Given the description of an element on the screen output the (x, y) to click on. 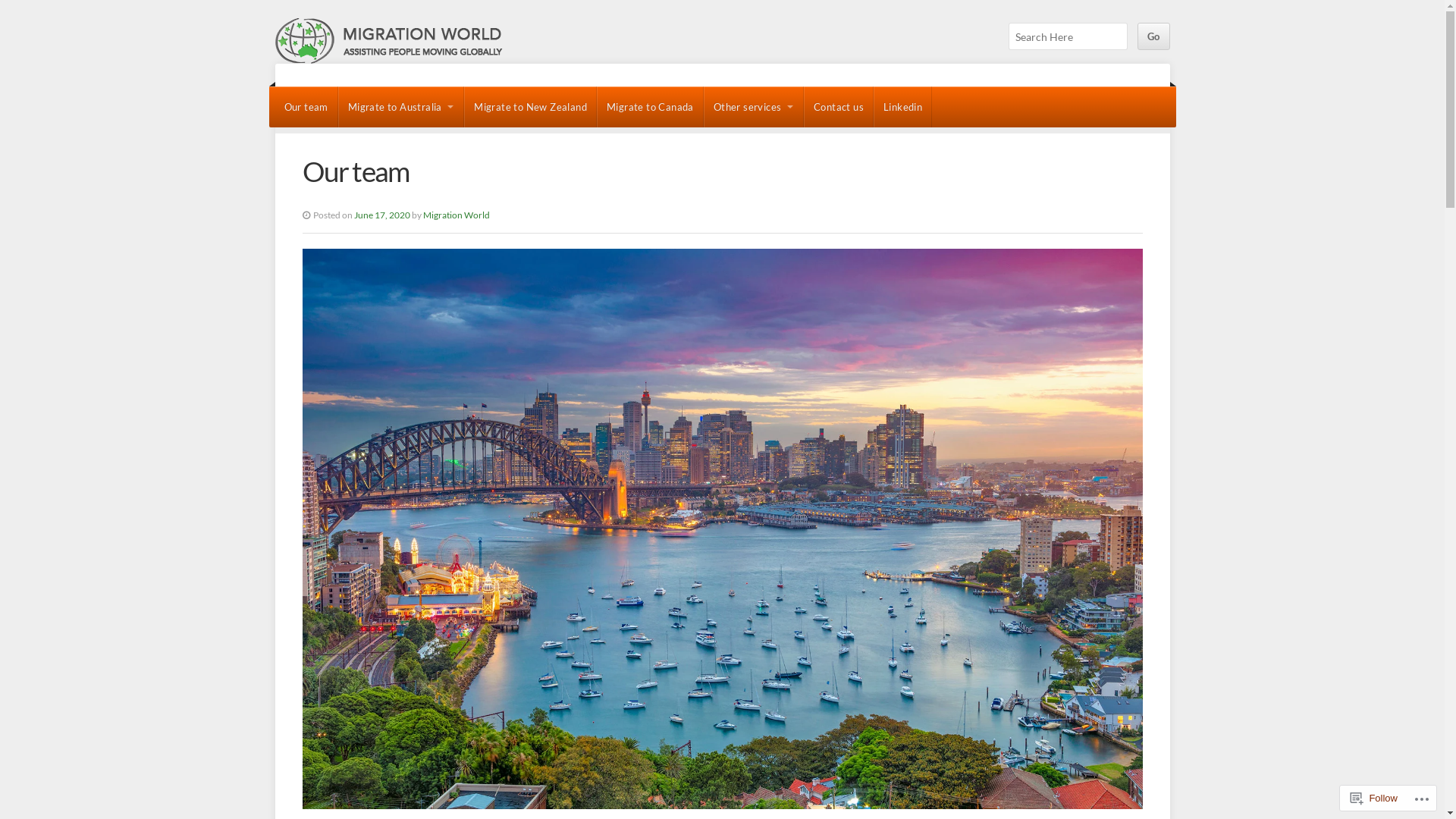
June 17, 2020 Element type: text (381, 214)
Search for: Element type: hover (1068, 36)
Other services Element type: text (753, 106)
Migrate to Canada Element type: text (649, 106)
Migrate to New Zealand Element type: text (530, 106)
Go Element type: text (1153, 36)
Follow Element type: text (1373, 797)
Our team Element type: text (305, 106)
Migrate to Australia Element type: text (401, 106)
Contact us Element type: text (838, 106)
Linkedin Element type: text (902, 106)
Migration World Element type: text (456, 214)
